Given the description of an element on the screen output the (x, y) to click on. 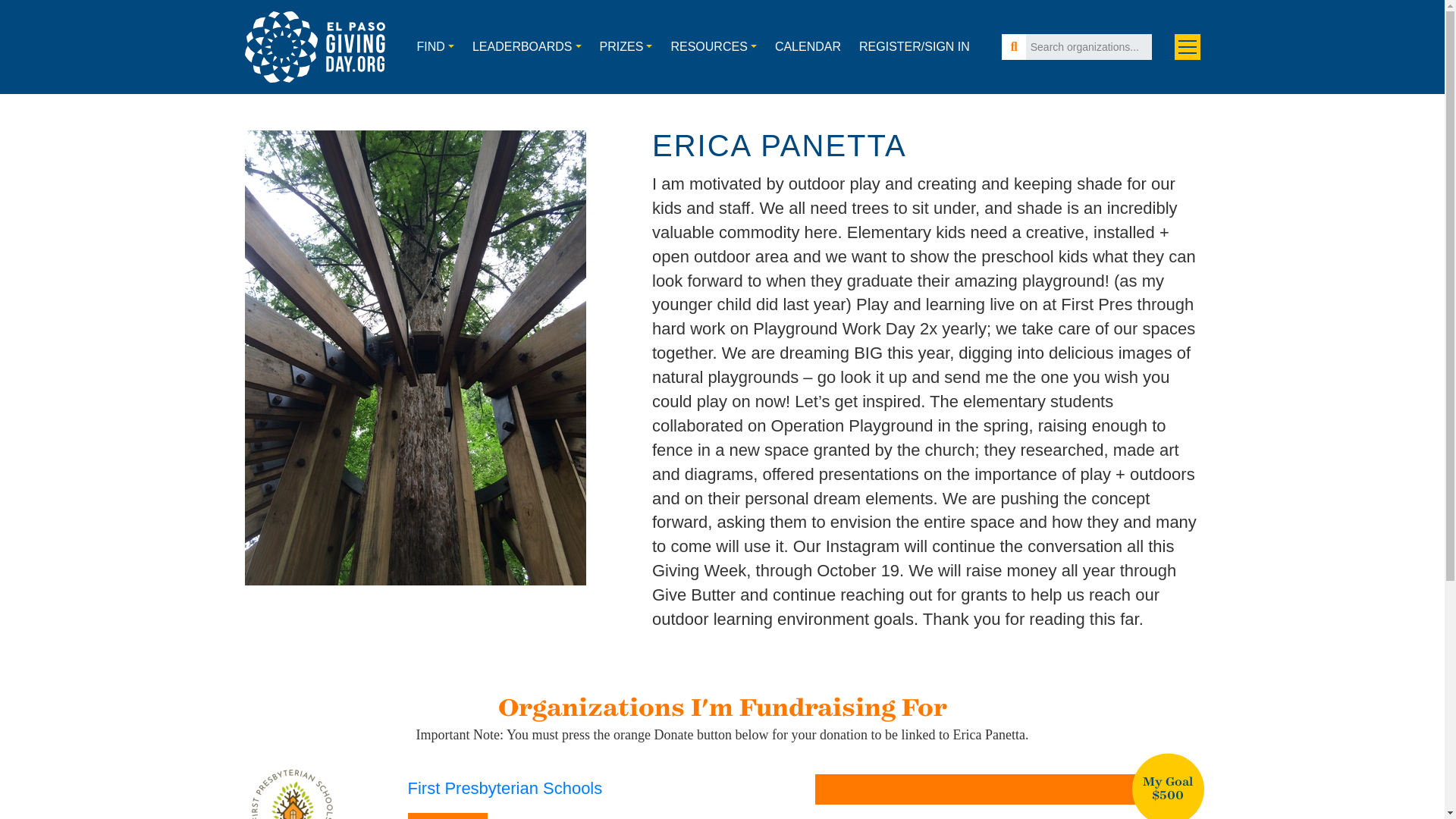
LEADERBOARDS (527, 46)
RESOURCES (713, 46)
CALENDAR (807, 46)
FIND (435, 46)
PRIZES (626, 46)
